Given the description of an element on the screen output the (x, y) to click on. 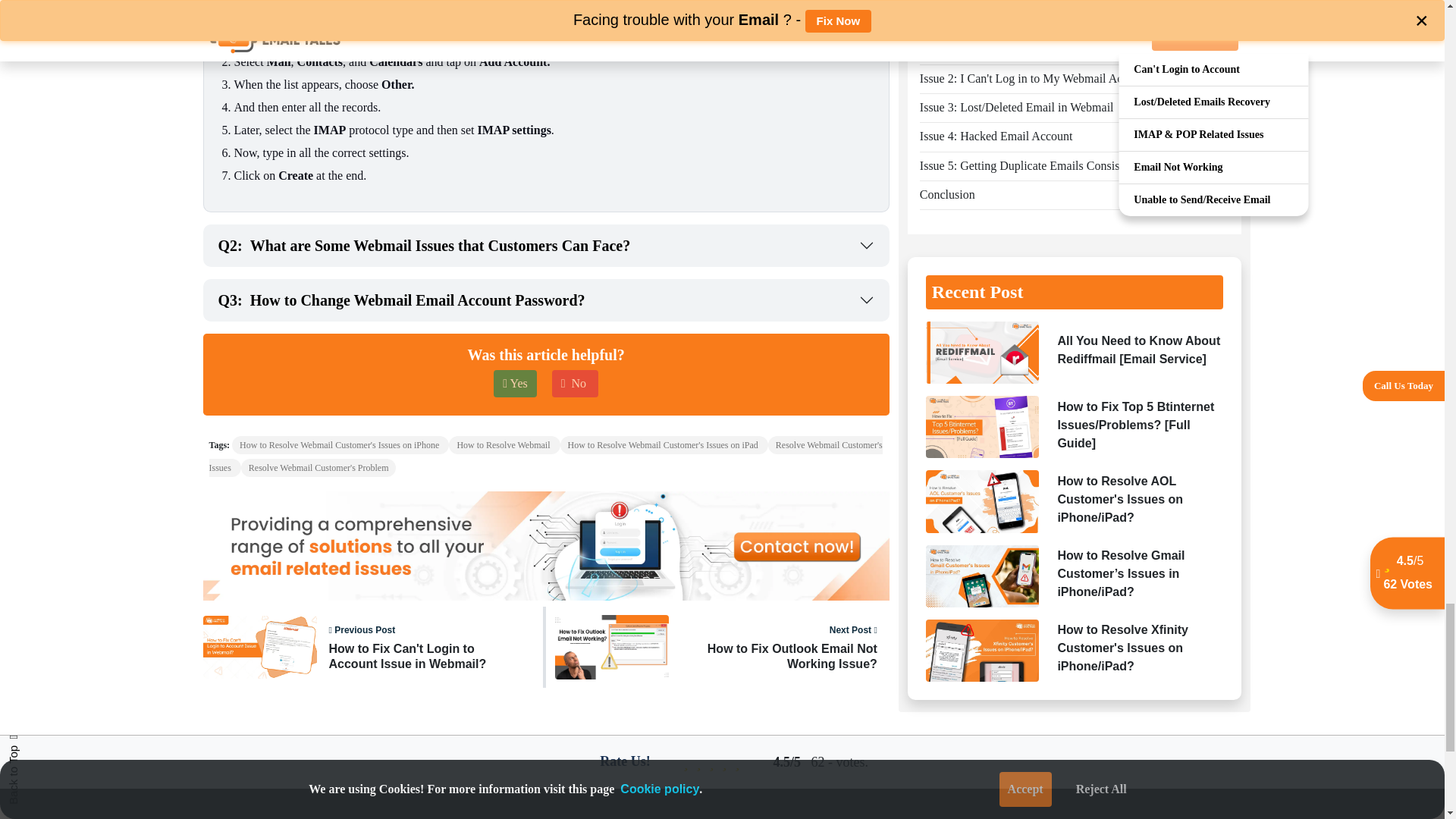
 No  (574, 383)
Yes (546, 245)
